Given the description of an element on the screen output the (x, y) to click on. 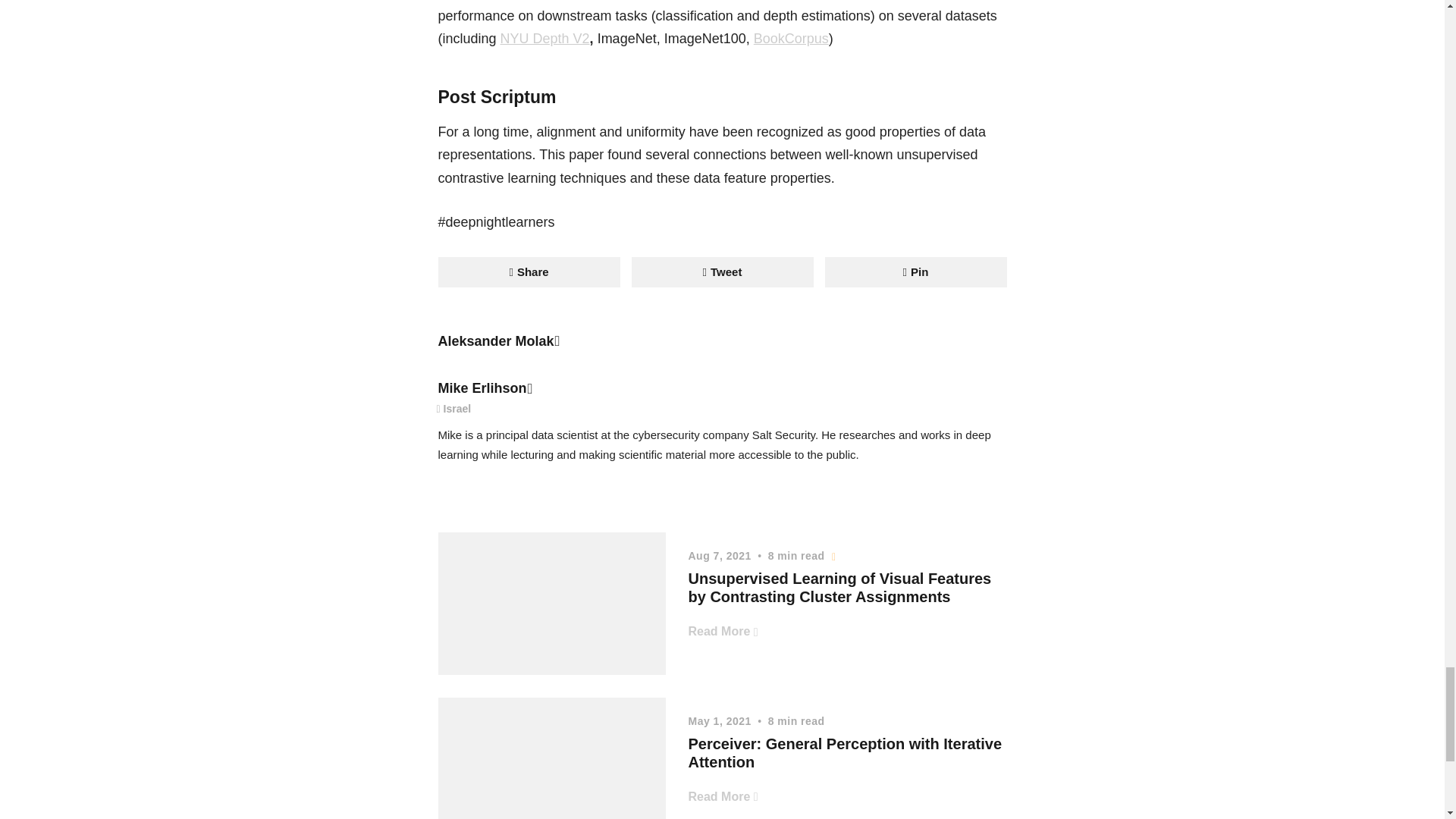
Perceiver: General Perception with Iterative Attention (845, 752)
Tweet (721, 272)
NYU Depth V2 (544, 38)
Read More (723, 796)
Share (529, 272)
BookCorpus (791, 38)
Pin (916, 272)
Read More (723, 630)
